Given the description of an element on the screen output the (x, y) to click on. 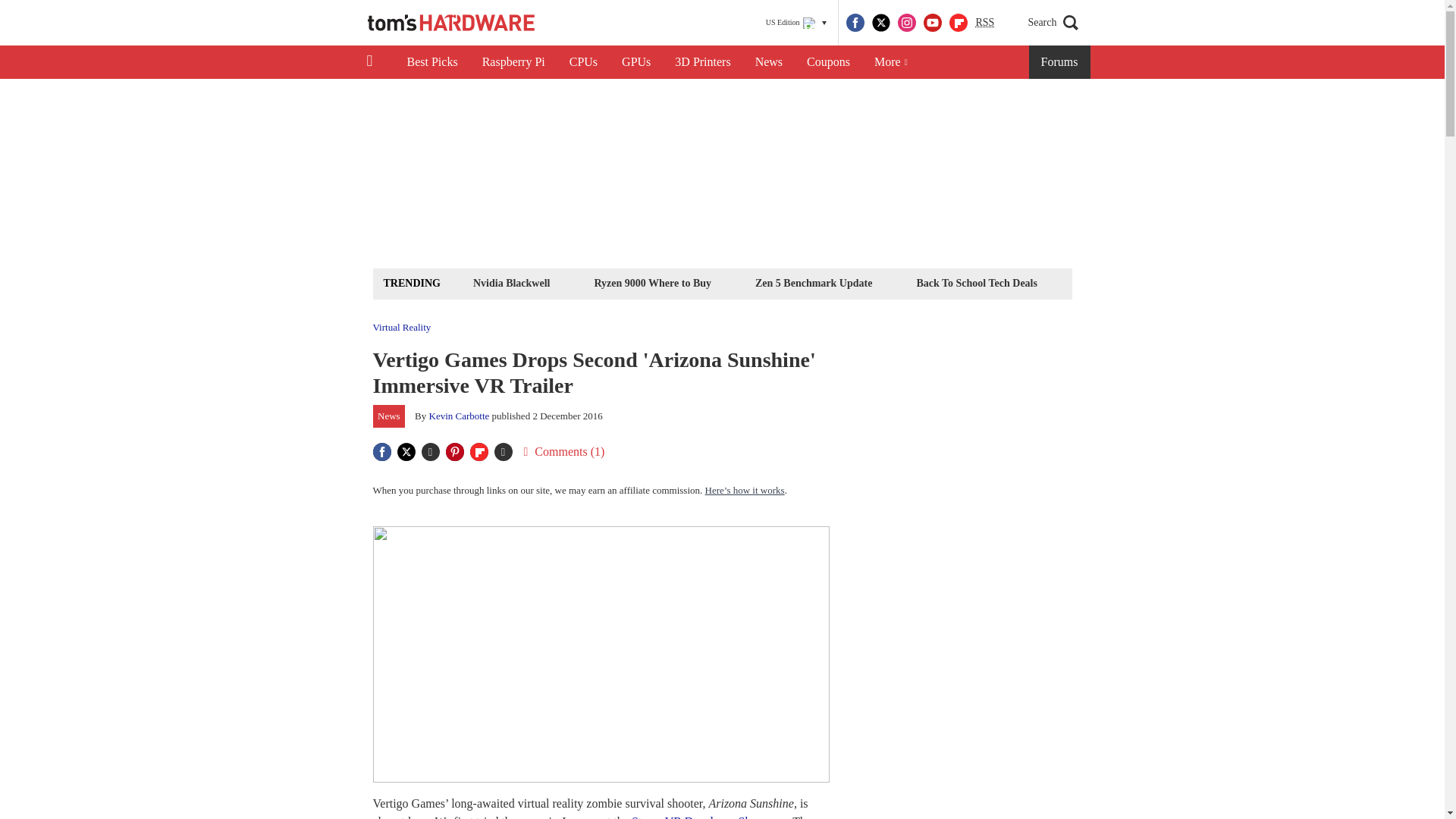
3D Printers (702, 61)
GPUs (636, 61)
Coupons (827, 61)
US Edition (796, 22)
RSS (984, 22)
Best Picks (431, 61)
CPUs (583, 61)
Forums (1059, 61)
News (768, 61)
Raspberry Pi (513, 61)
